Given the description of an element on the screen output the (x, y) to click on. 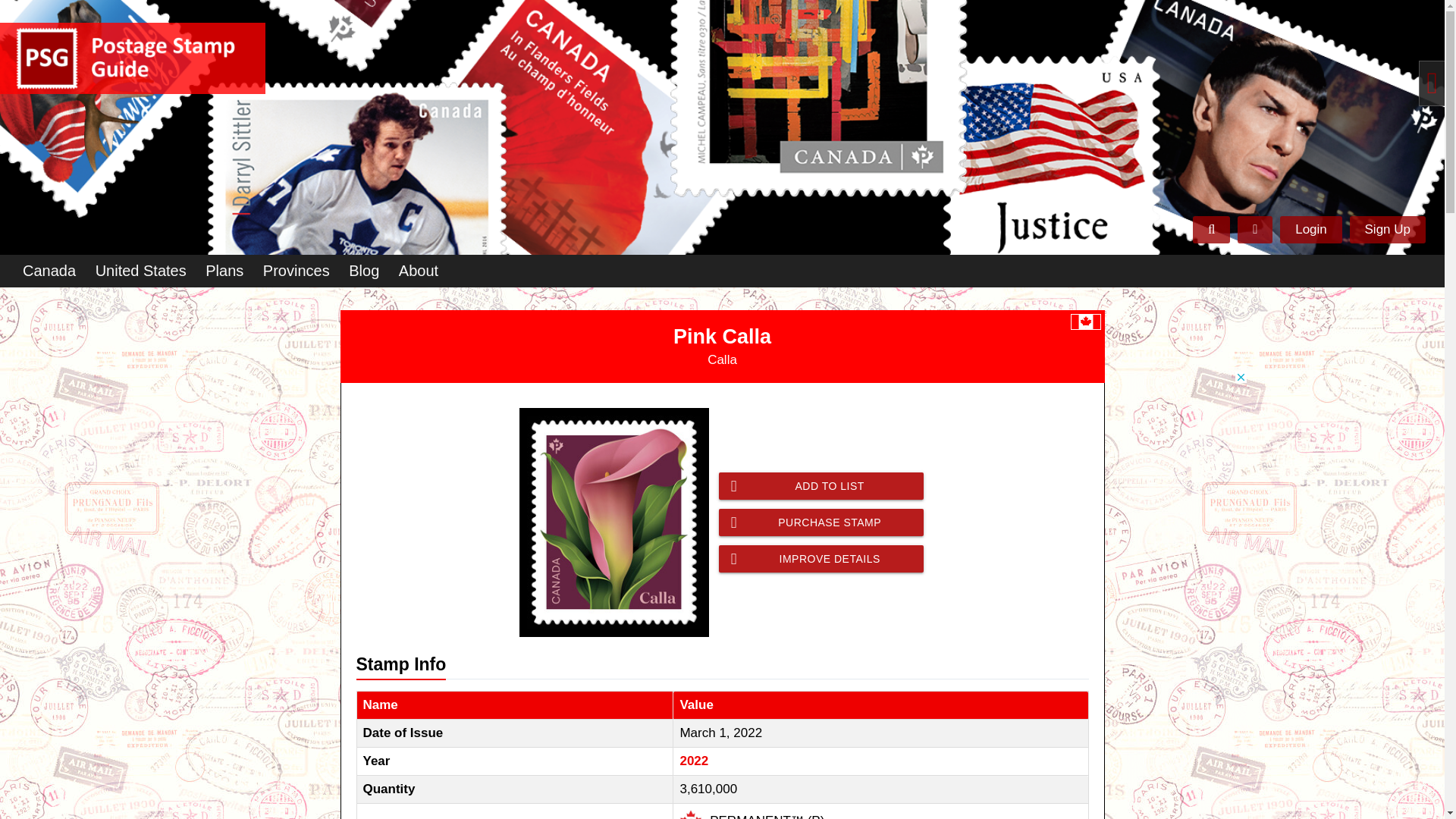
IMPROVE DETAILS (821, 558)
Blog (363, 270)
PURCHASE STAMP (821, 522)
Canada (48, 270)
Sign Up (1387, 229)
About (418, 270)
Provinces (296, 270)
United States (140, 270)
Plans (224, 270)
2022 (693, 760)
Login (1310, 229)
